Given the description of an element on the screen output the (x, y) to click on. 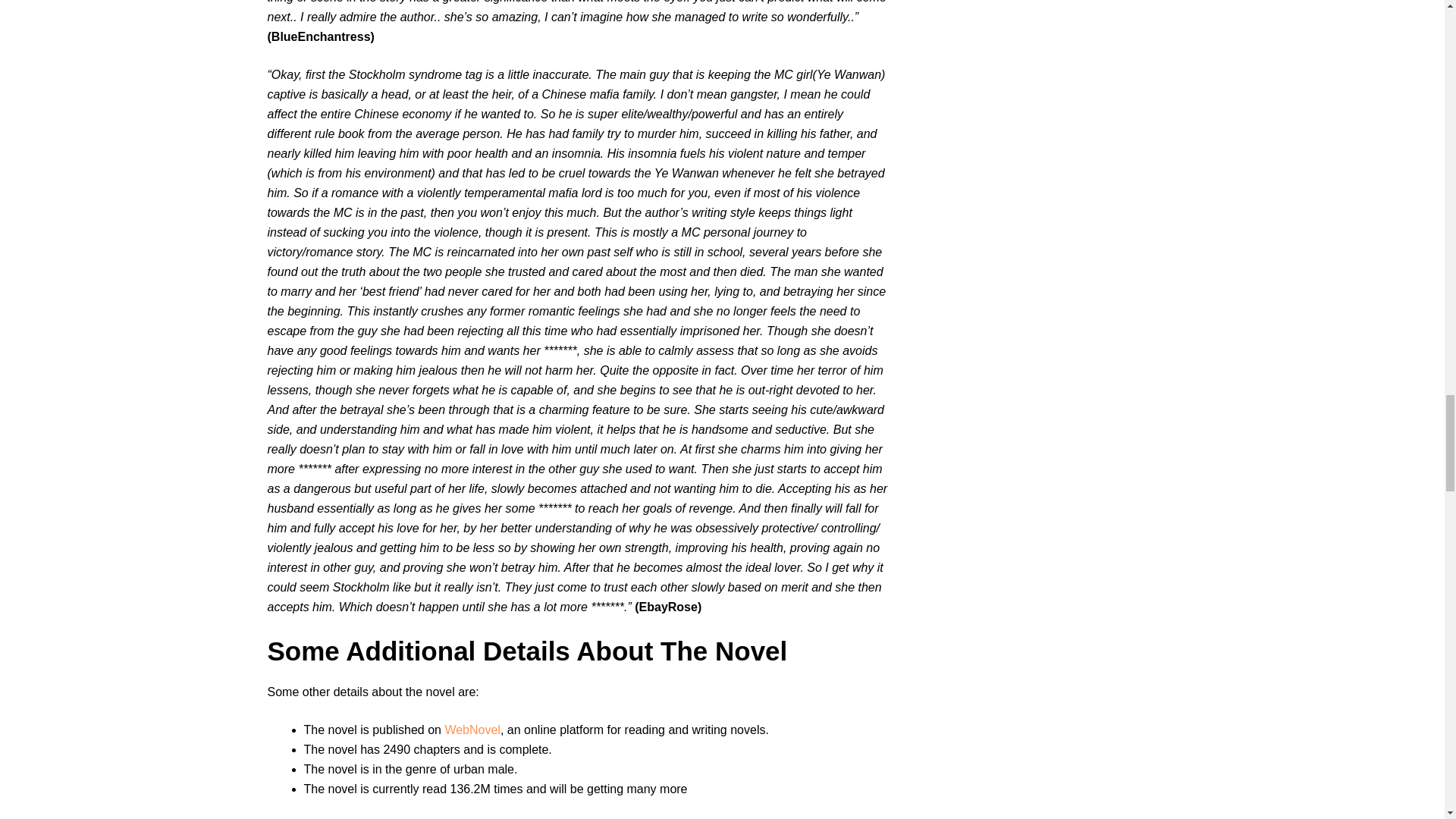
WebNovel (472, 729)
